Given the description of an element on the screen output the (x, y) to click on. 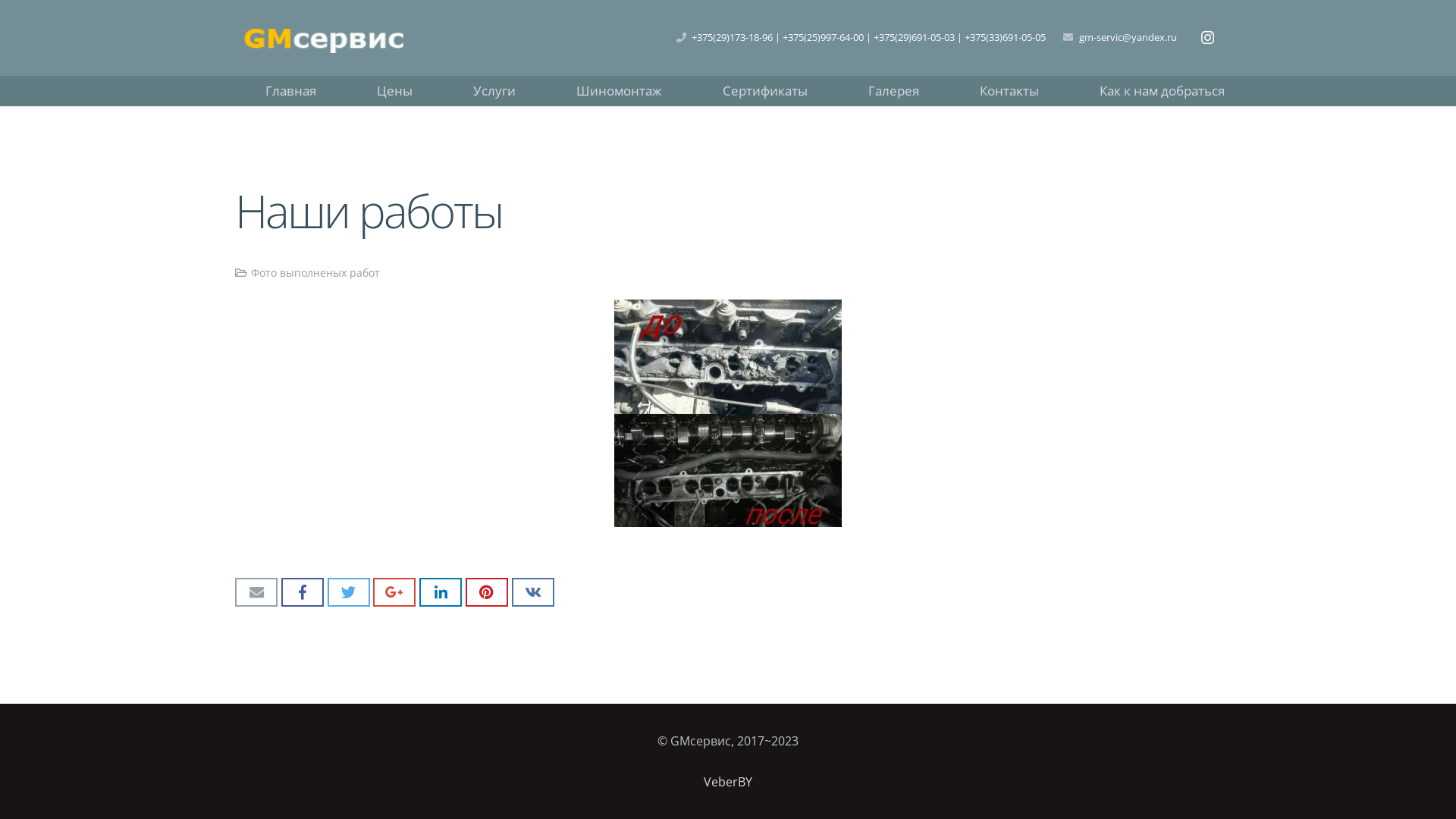
VeberBY Element type: text (727, 781)
gm-servic@yandex.ru Element type: text (1127, 36)
